Given the description of an element on the screen output the (x, y) to click on. 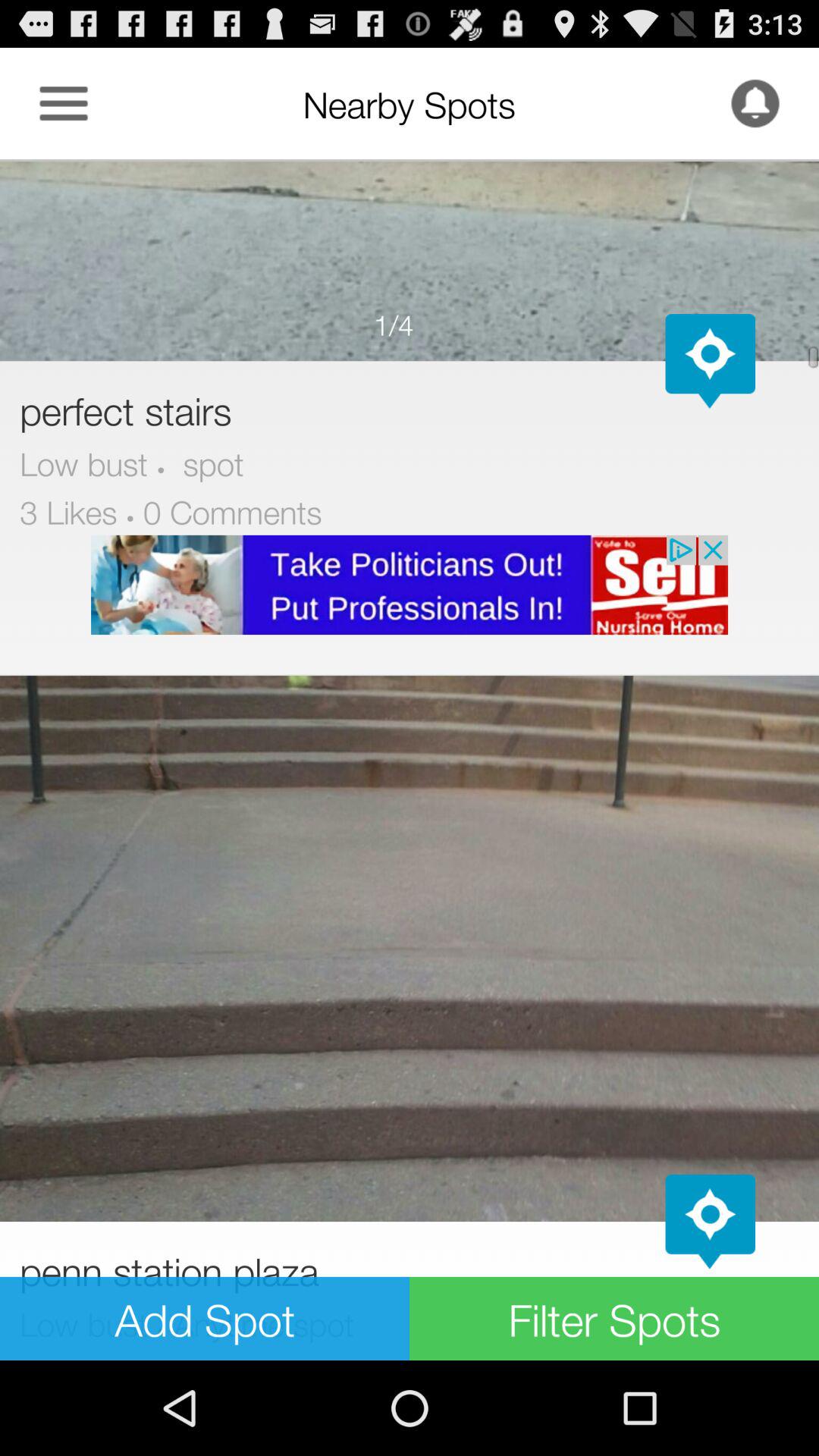
open advertisement (409, 584)
